Given the description of an element on the screen output the (x, y) to click on. 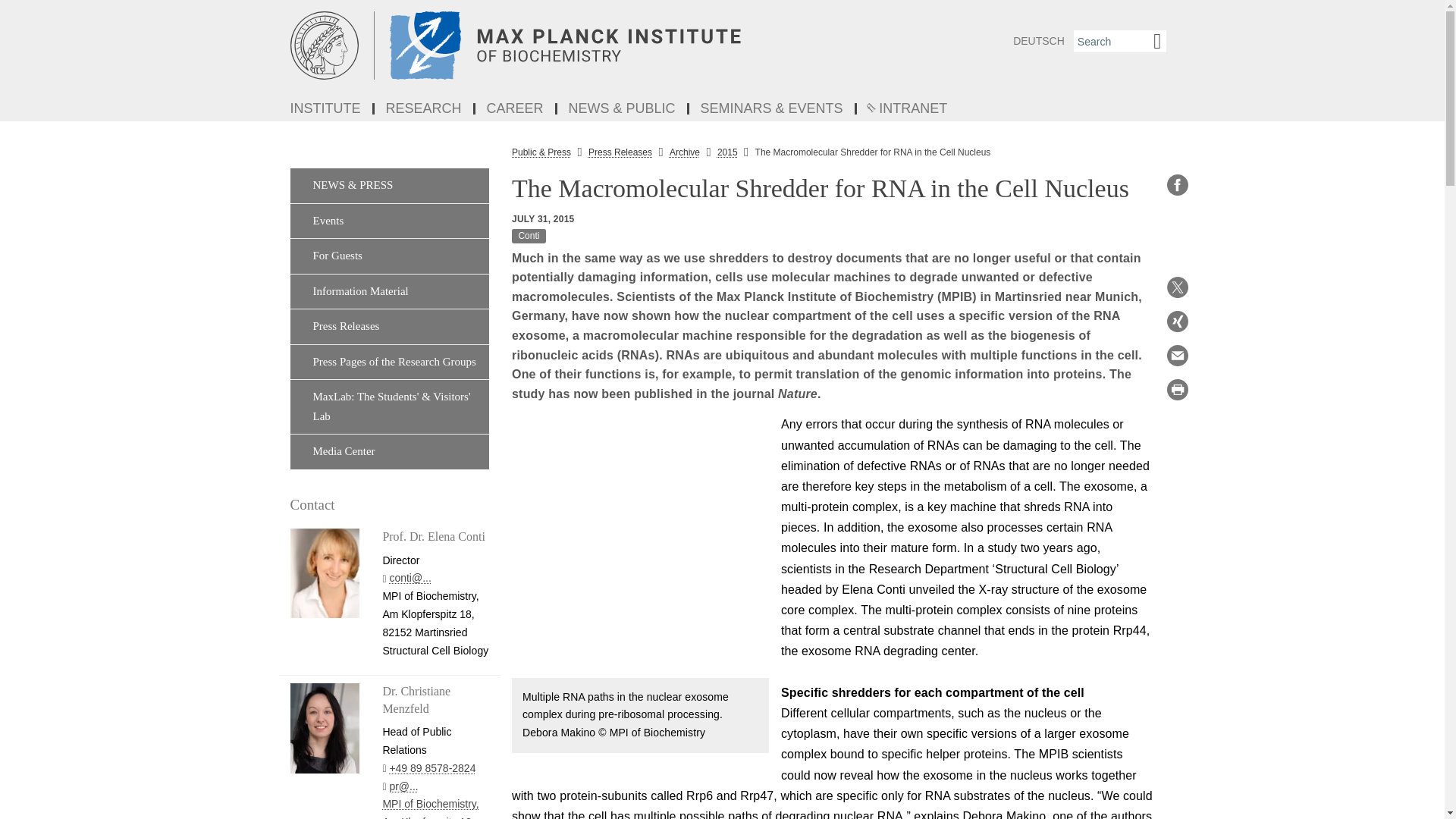
RESEARCH (425, 108)
Xing (1177, 321)
DEUTSCH (1038, 41)
E-Mail (1177, 354)
CAREER (516, 108)
Print (1177, 389)
opens zoom view (640, 545)
INSTITUTE (326, 108)
Reddit (1177, 252)
LinkedIn (1177, 219)
Facebook (1177, 184)
Twitter (1177, 287)
